Given the description of an element on the screen output the (x, y) to click on. 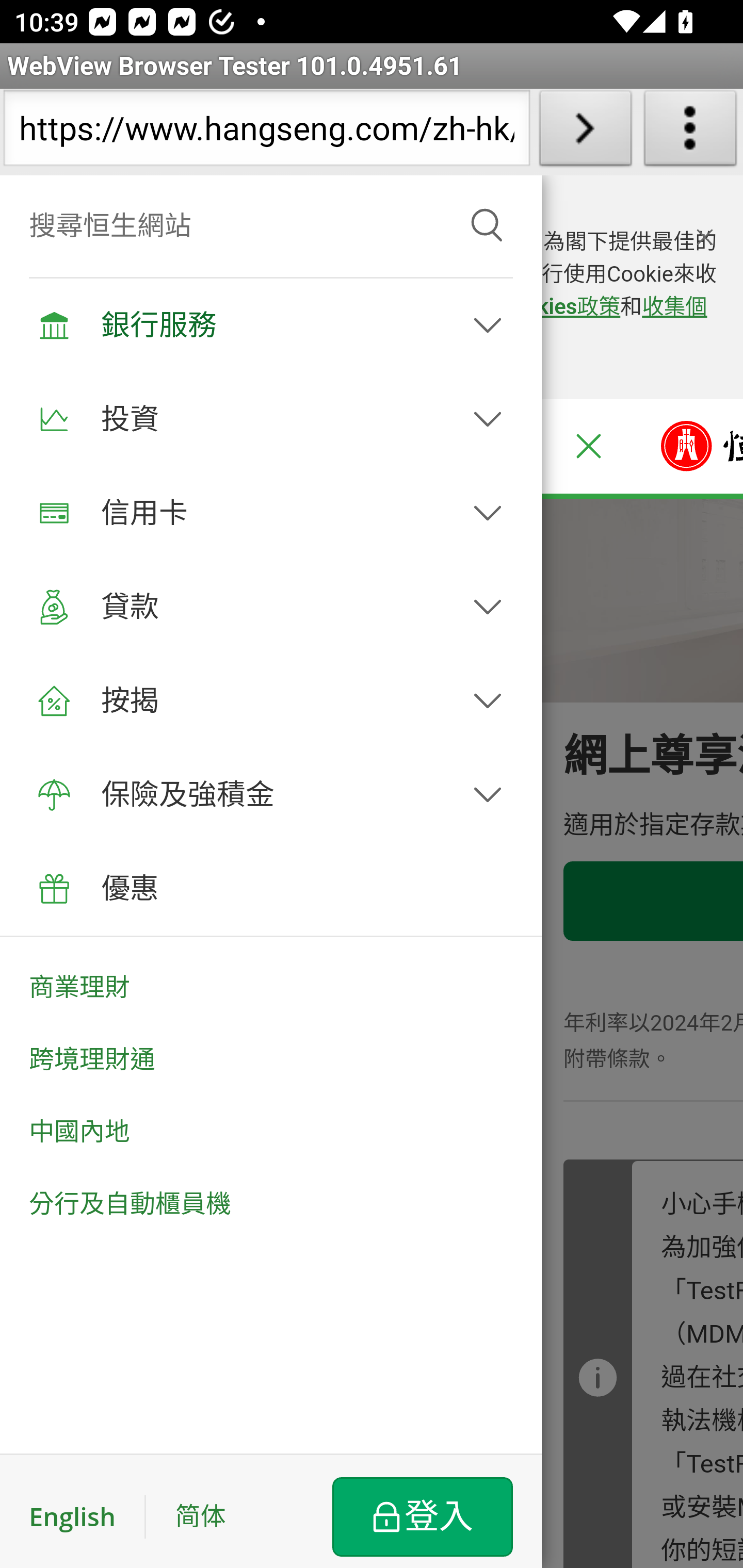
https://www.hangseng.com/zh-hk/home/ (266, 132)
Load URL (585, 132)
About WebView (690, 132)
搜尋 (487, 225)
銀行服務 (270, 324)
投資 (270, 418)
信用卡 (270, 512)
貸款 (270, 606)
按揭 (270, 700)
保險及強積金 (270, 794)
優惠 (270, 888)
商業理財 (270, 981)
跨境理財通 (270, 1060)
中國內地 (270, 1132)
分行及自動櫃員機 (270, 1211)
登入 (422, 1516)
English (87, 1515)
简体 (200, 1515)
